Given the description of an element on the screen output the (x, y) to click on. 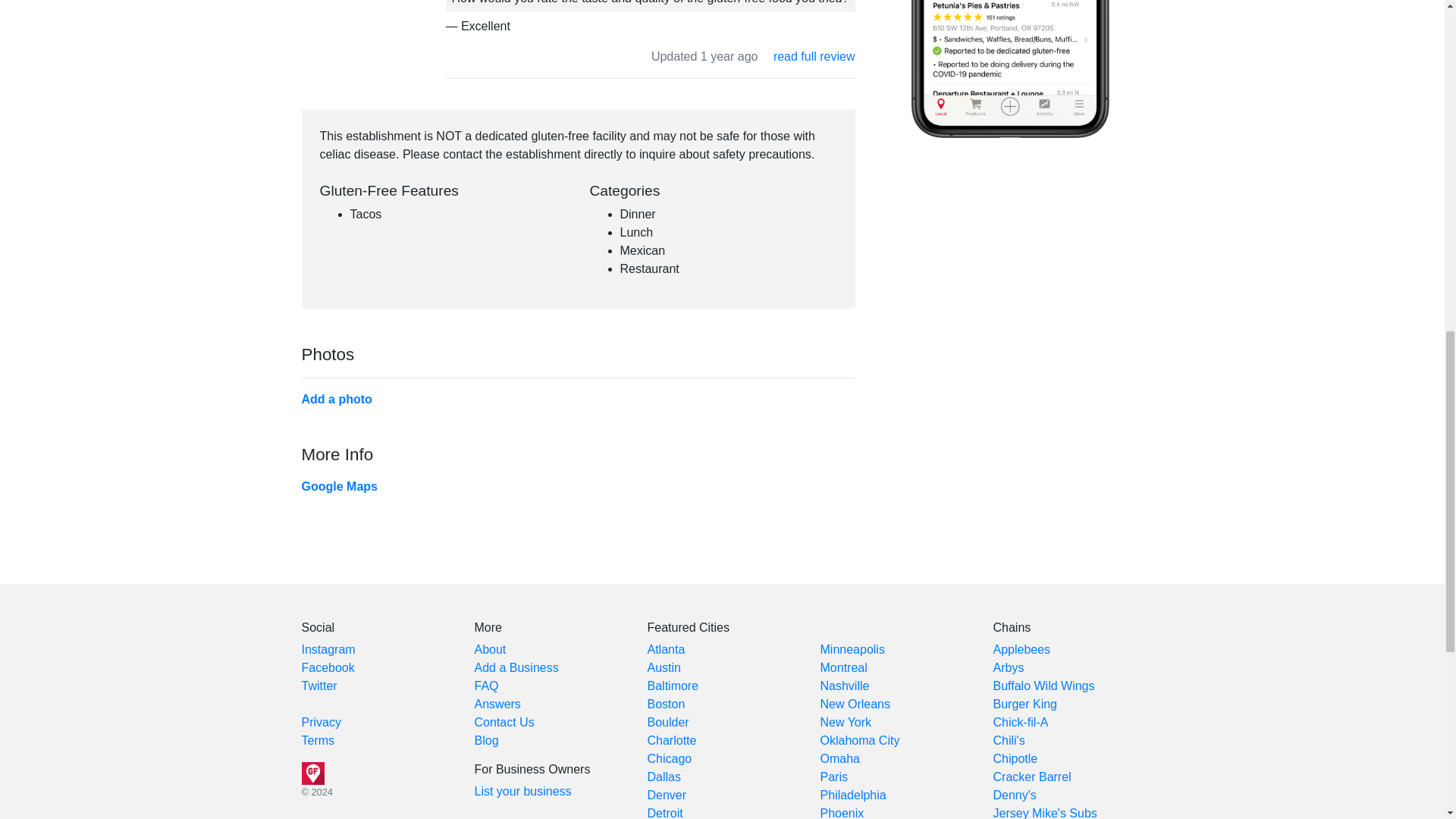
Terms (317, 739)
Twitter (319, 685)
read full review (814, 56)
Instagram (328, 649)
Privacy (320, 721)
Facebook (328, 667)
Add a photo (336, 399)
Google Maps (339, 486)
